Given the description of an element on the screen output the (x, y) to click on. 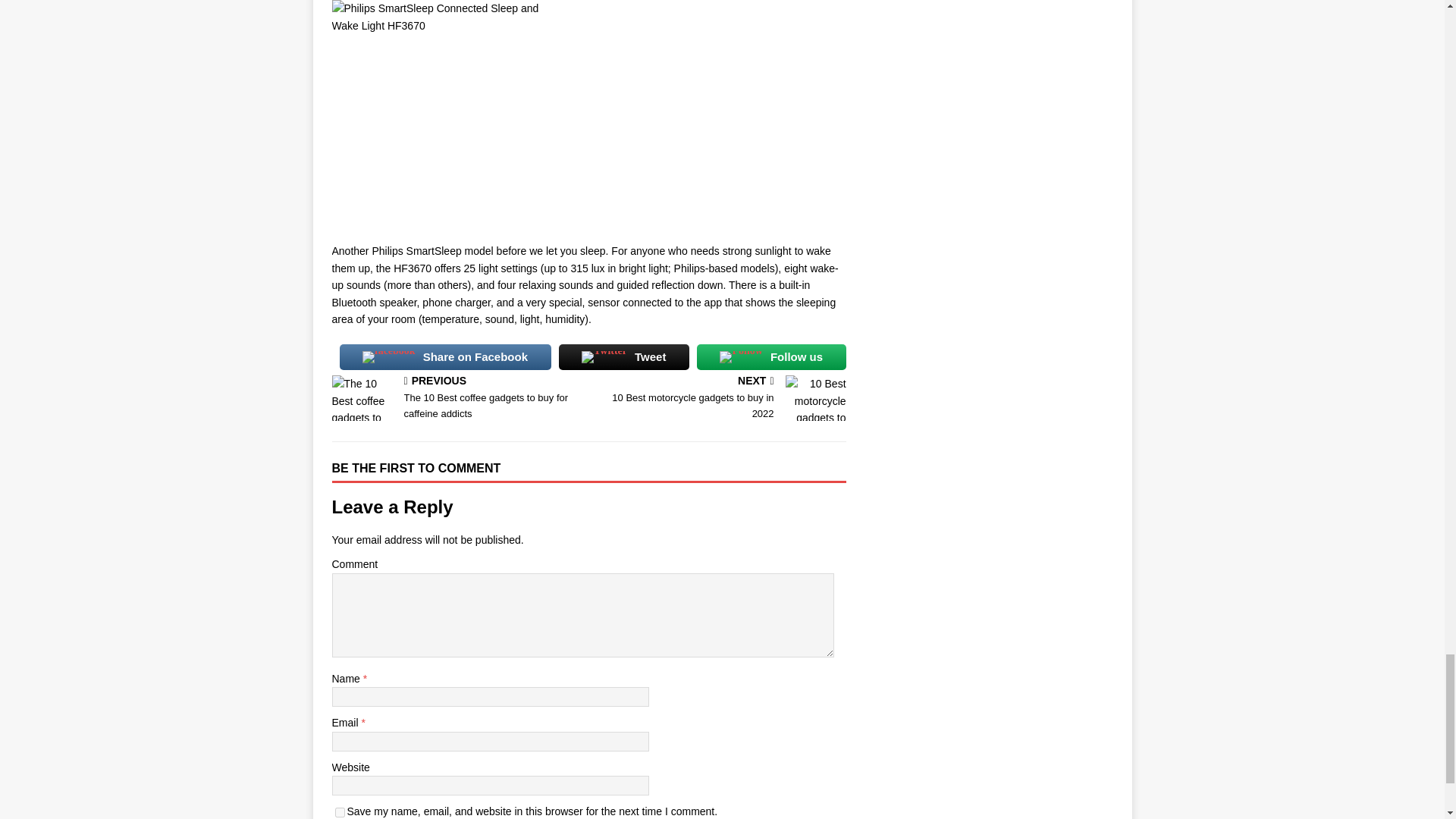
yes (339, 812)
Share on Facebook (720, 398)
Follow us (445, 357)
Tweet (771, 357)
